Given the description of an element on the screen output the (x, y) to click on. 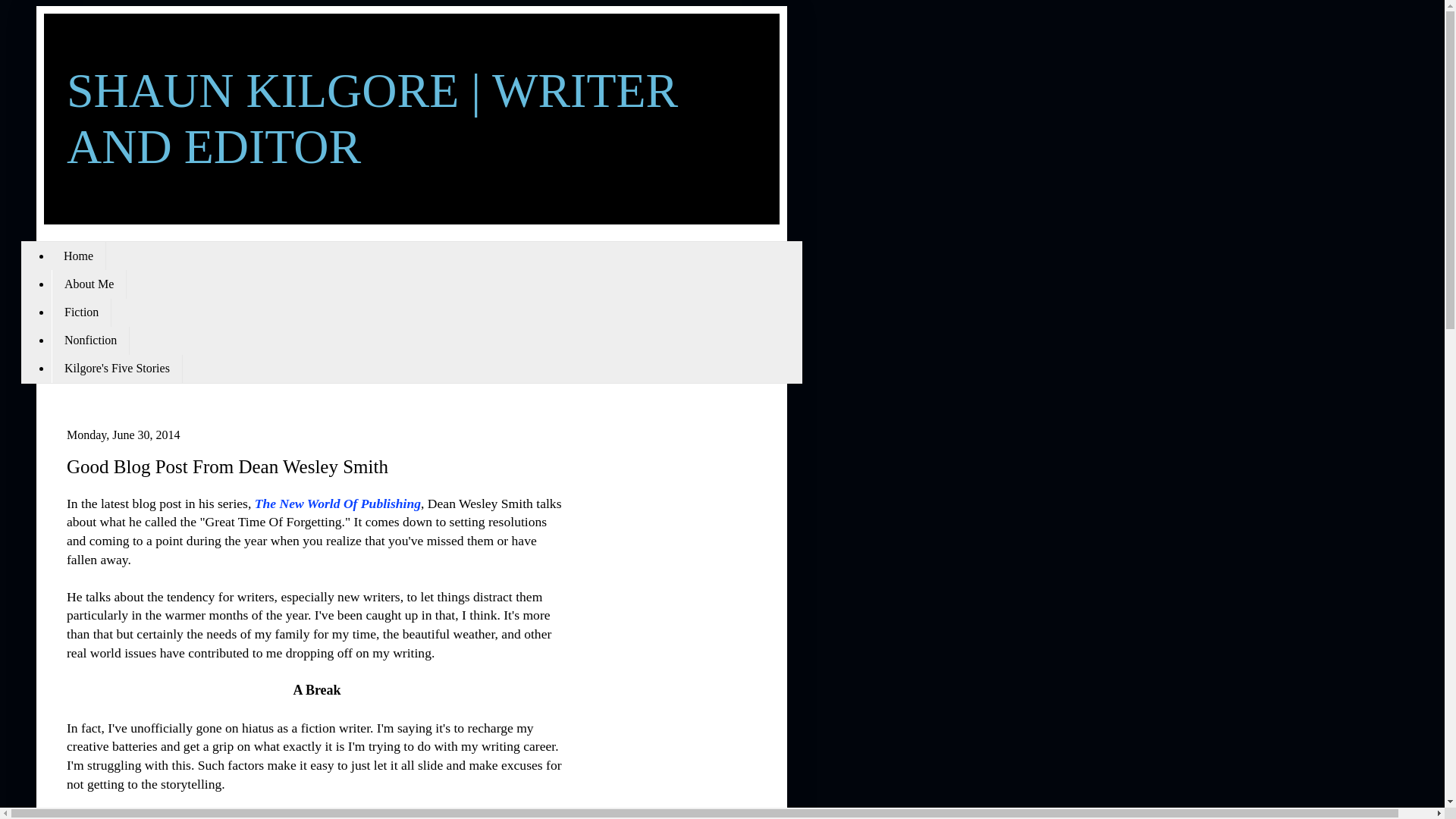
About Me (88, 284)
The New World Of Publishing (337, 503)
Fiction (81, 312)
Nonfiction (89, 340)
Kilgore's Five Stories (116, 368)
Home (78, 255)
